Given the description of an element on the screen output the (x, y) to click on. 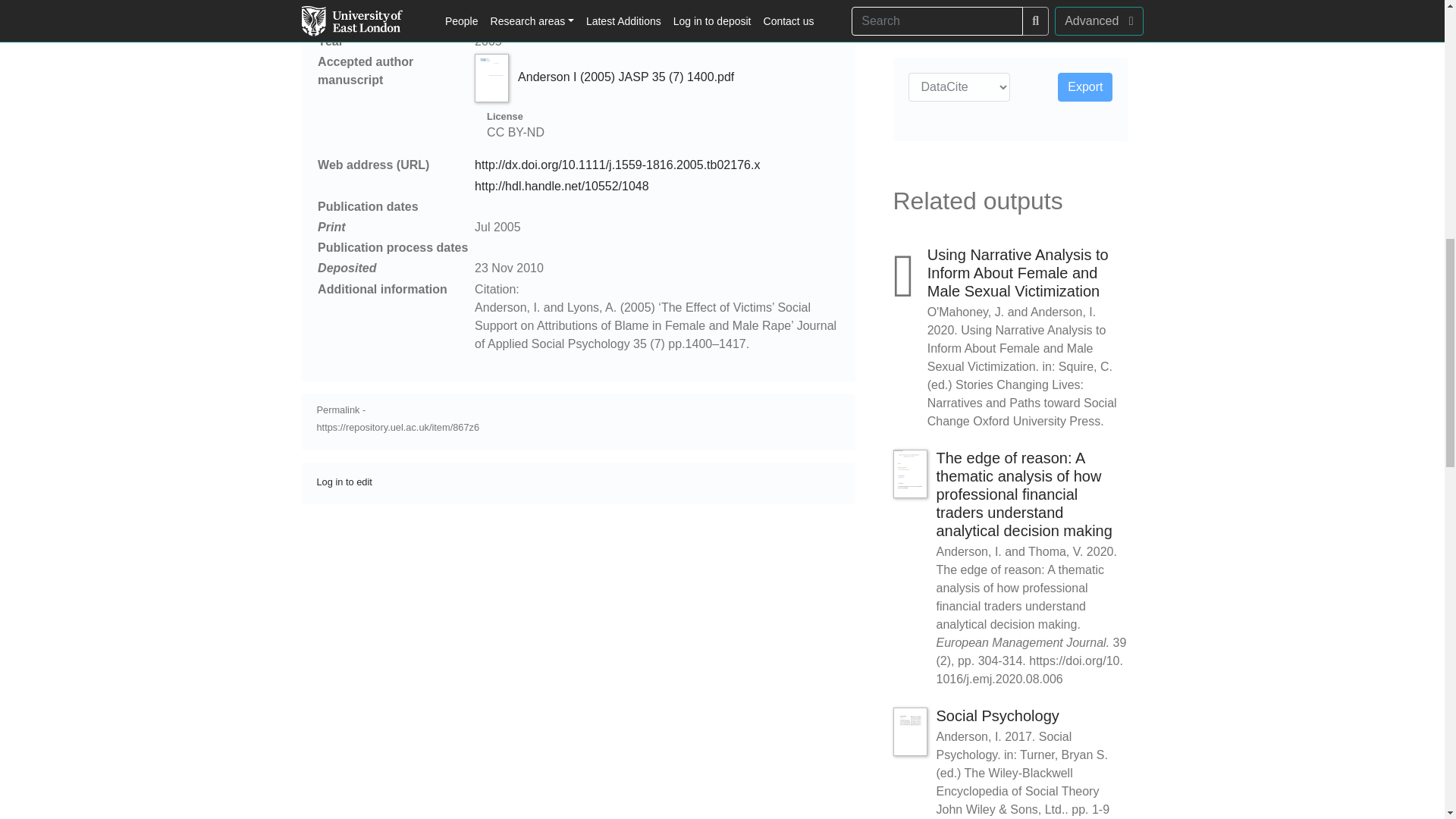
Social Psychology (997, 715)
Log in to edit (344, 481)
Export (1085, 86)
